Given the description of an element on the screen output the (x, y) to click on. 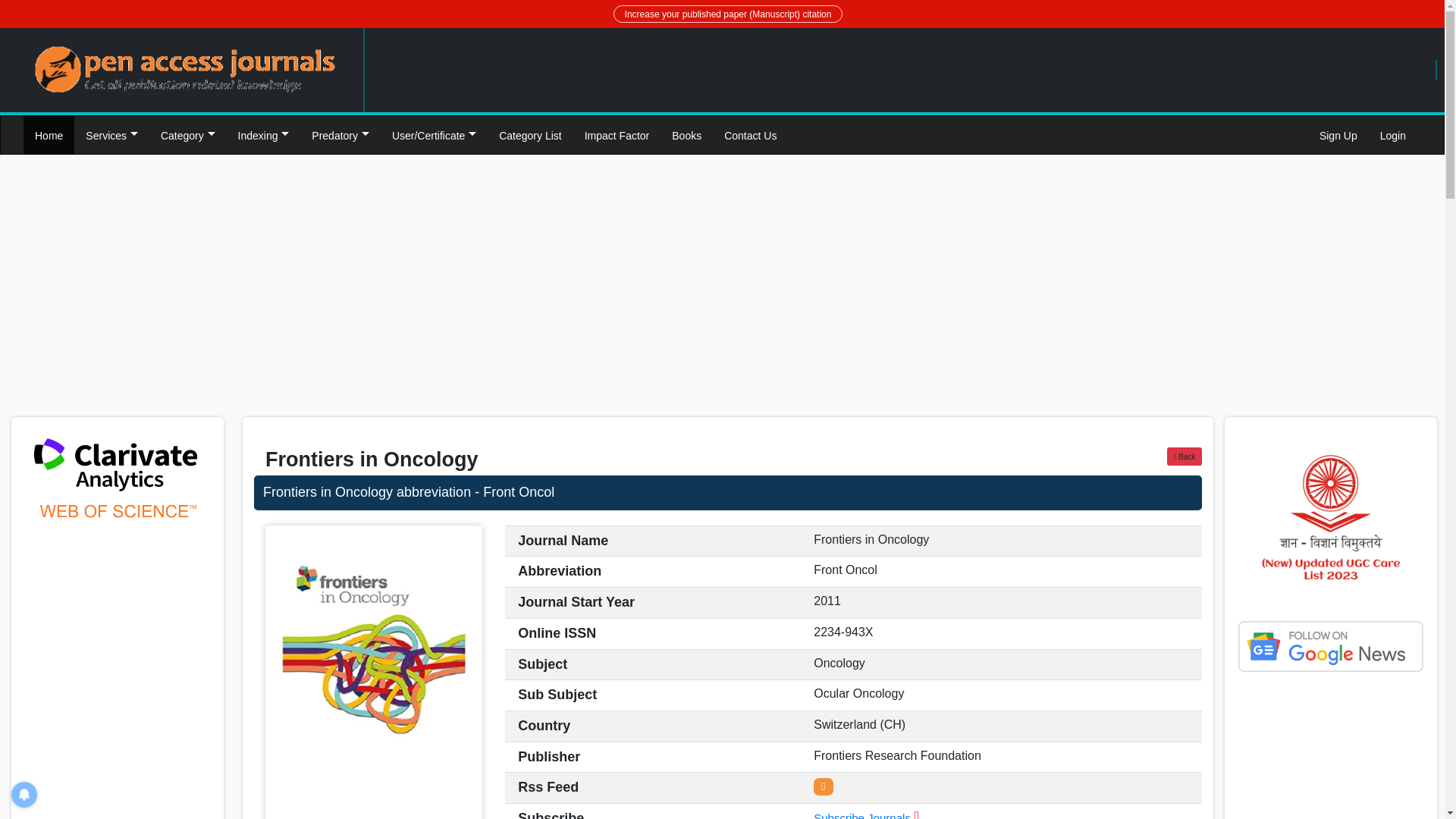
Predatory (339, 134)
Open access journals (185, 68)
Click here for go back (1184, 456)
Indexing (264, 134)
Advertisement (966, 293)
Category (188, 134)
Open access journals (185, 69)
Services (111, 134)
ugc care approved journals list (1330, 517)
Frontiers in Oncology (727, 492)
